Given the description of an element on the screen output the (x, y) to click on. 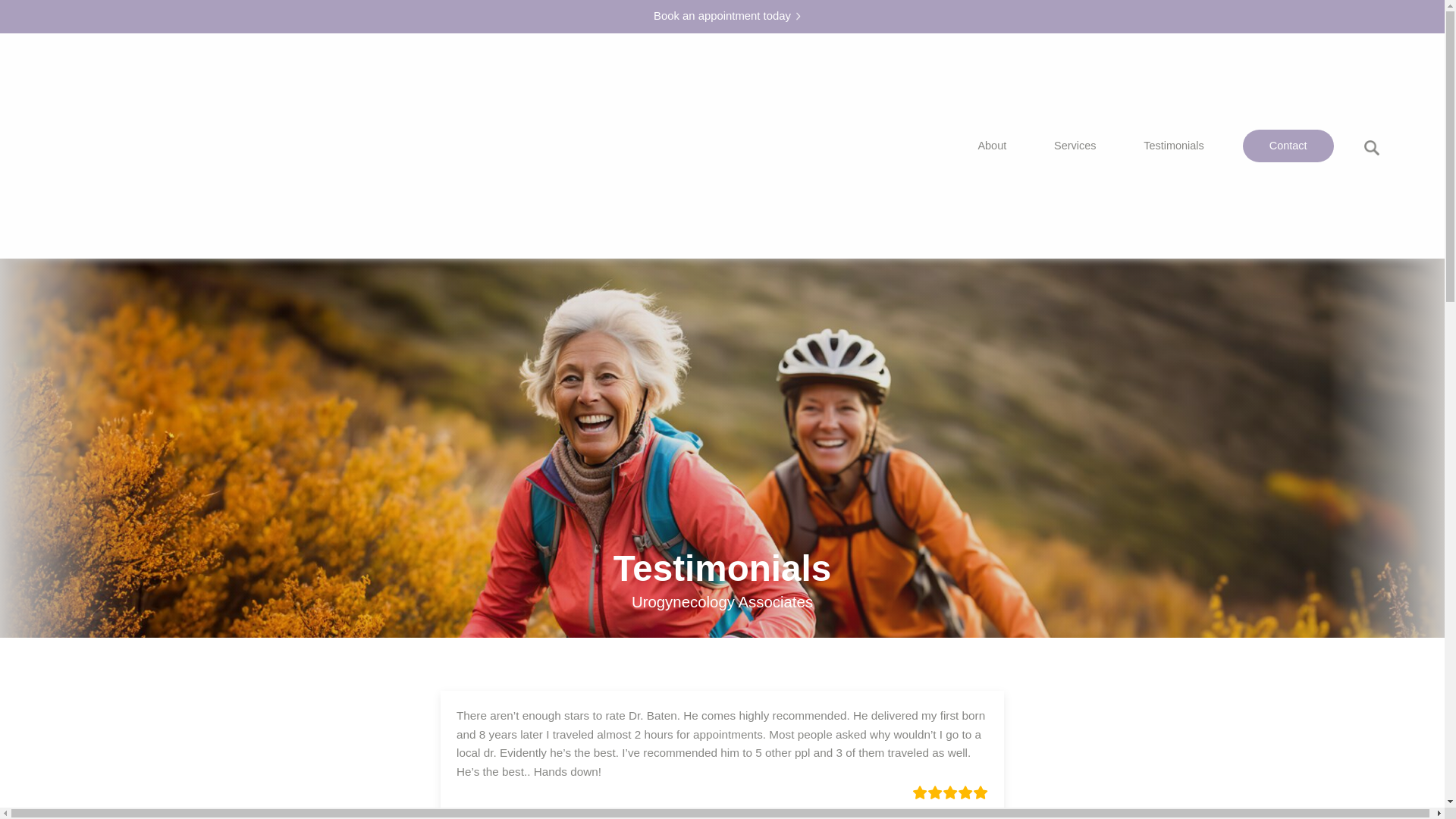
Contact (1288, 145)
Testimonials (1173, 145)
Book an appointment today (721, 16)
Services (1075, 145)
About (992, 145)
